Given the description of an element on the screen output the (x, y) to click on. 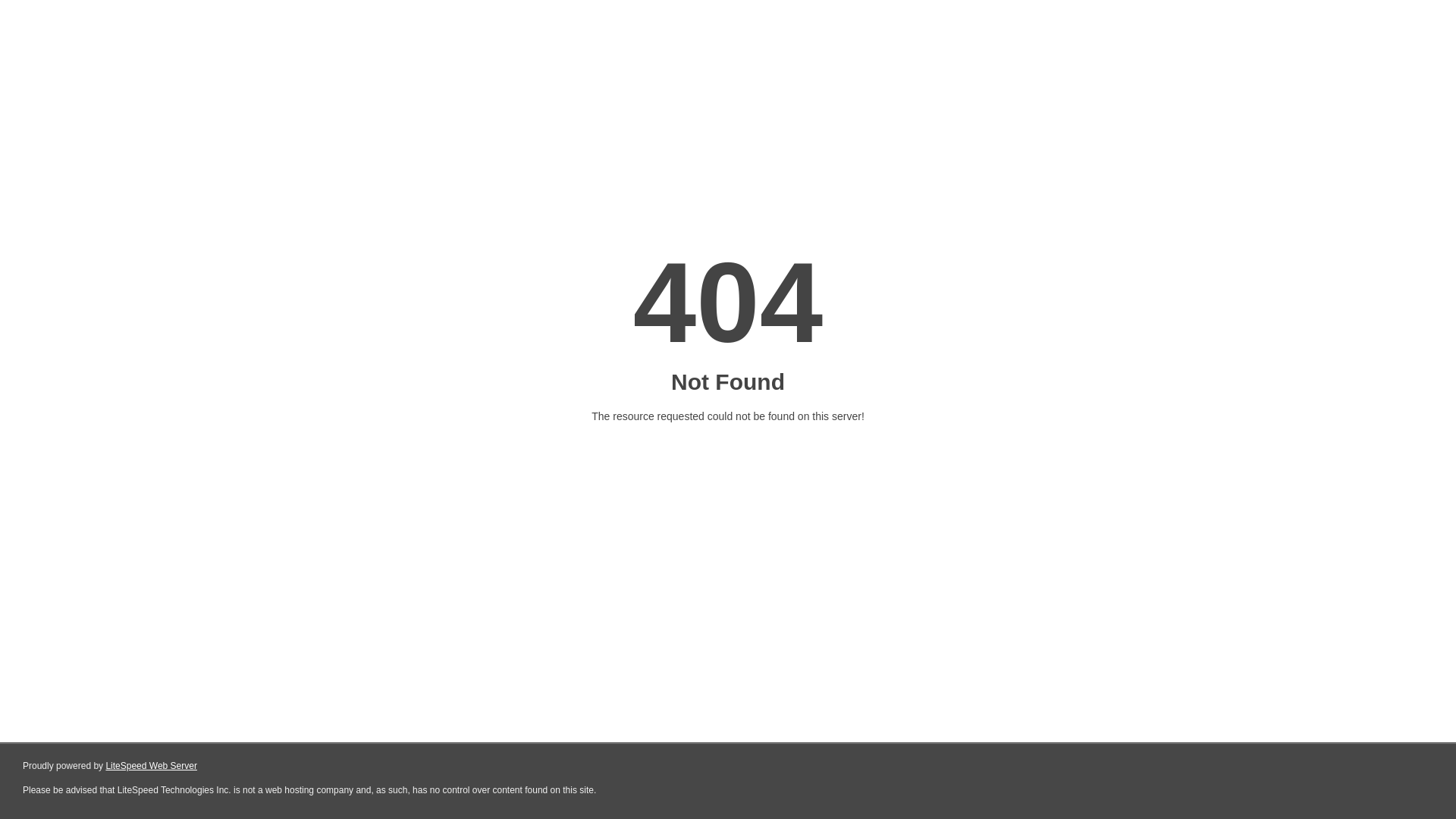
LiteSpeed Web Server Element type: text (151, 765)
